Given the description of an element on the screen output the (x, y) to click on. 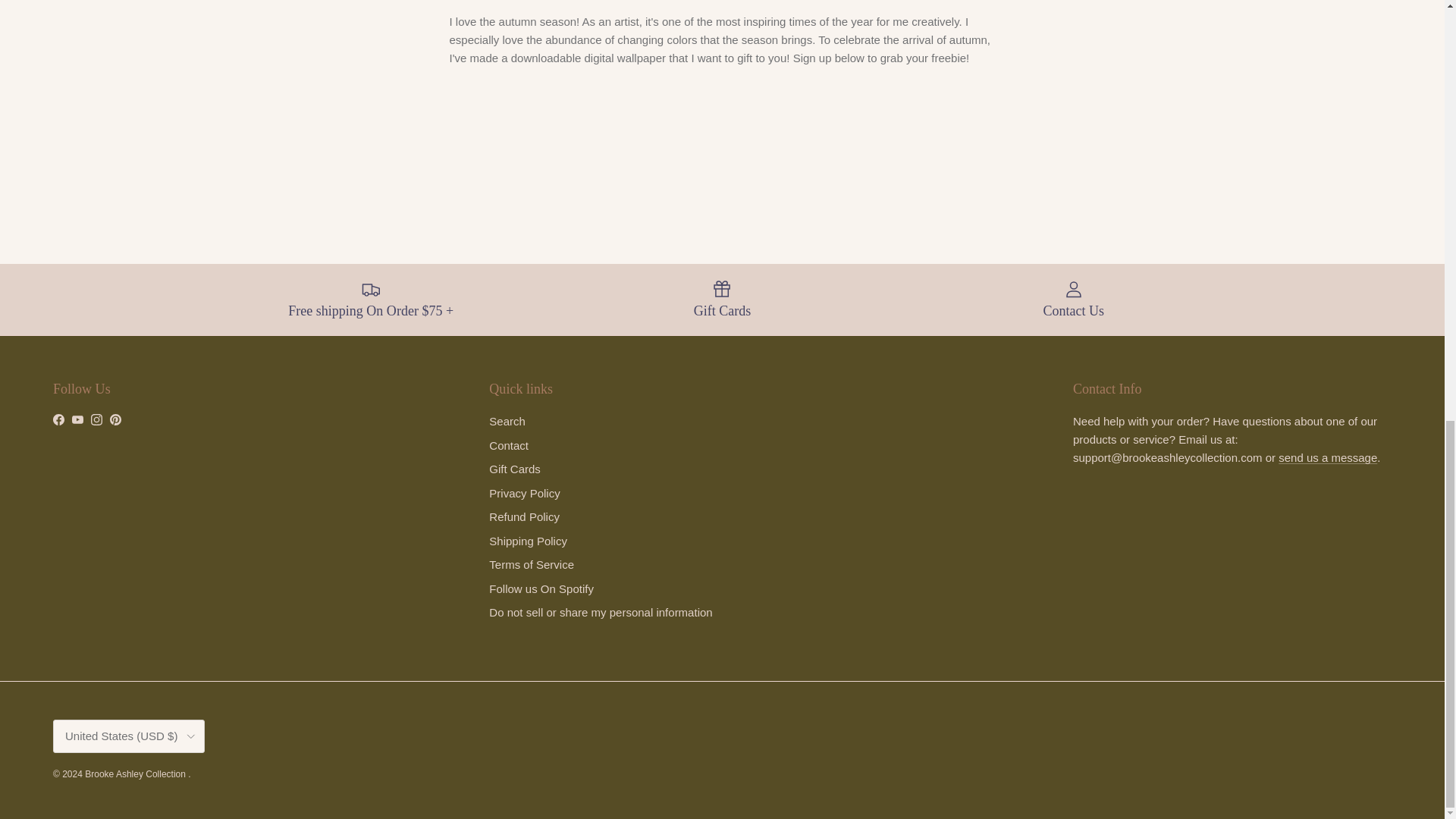
Contact Us (1327, 457)
Brooke Ashley Collection  on Pinterest (115, 419)
Brooke Ashley Collection  on YouTube (76, 419)
Brooke Ashley Collection  on Facebook (58, 419)
Brooke Ashley Collection  on Instagram (95, 419)
